Given the description of an element on the screen output the (x, y) to click on. 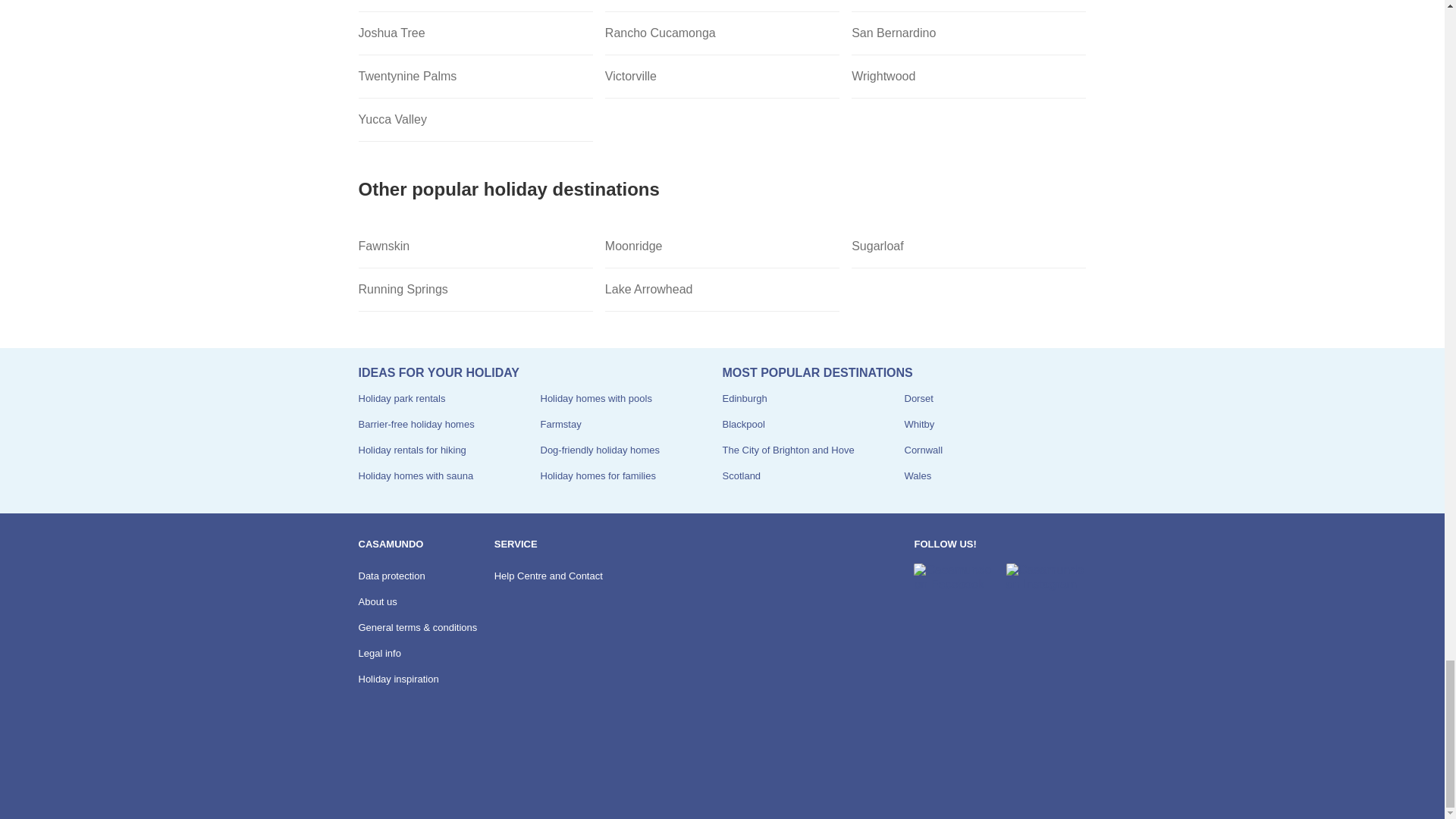
Rancho Cucamonga (722, 33)
Fawnskin (475, 246)
Lake Arrowhead (722, 290)
Chino (475, 6)
San Bernardino (968, 33)
Sugarloaf (968, 246)
Moonridge (722, 246)
Joshua Tree (475, 33)
Wrightwood (968, 76)
Crestline (722, 6)
Crestline (722, 6)
Casamundo on Facebook (953, 577)
Chino (475, 6)
Hesperia (968, 6)
Running Springs (475, 290)
